Given the description of an element on the screen output the (x, y) to click on. 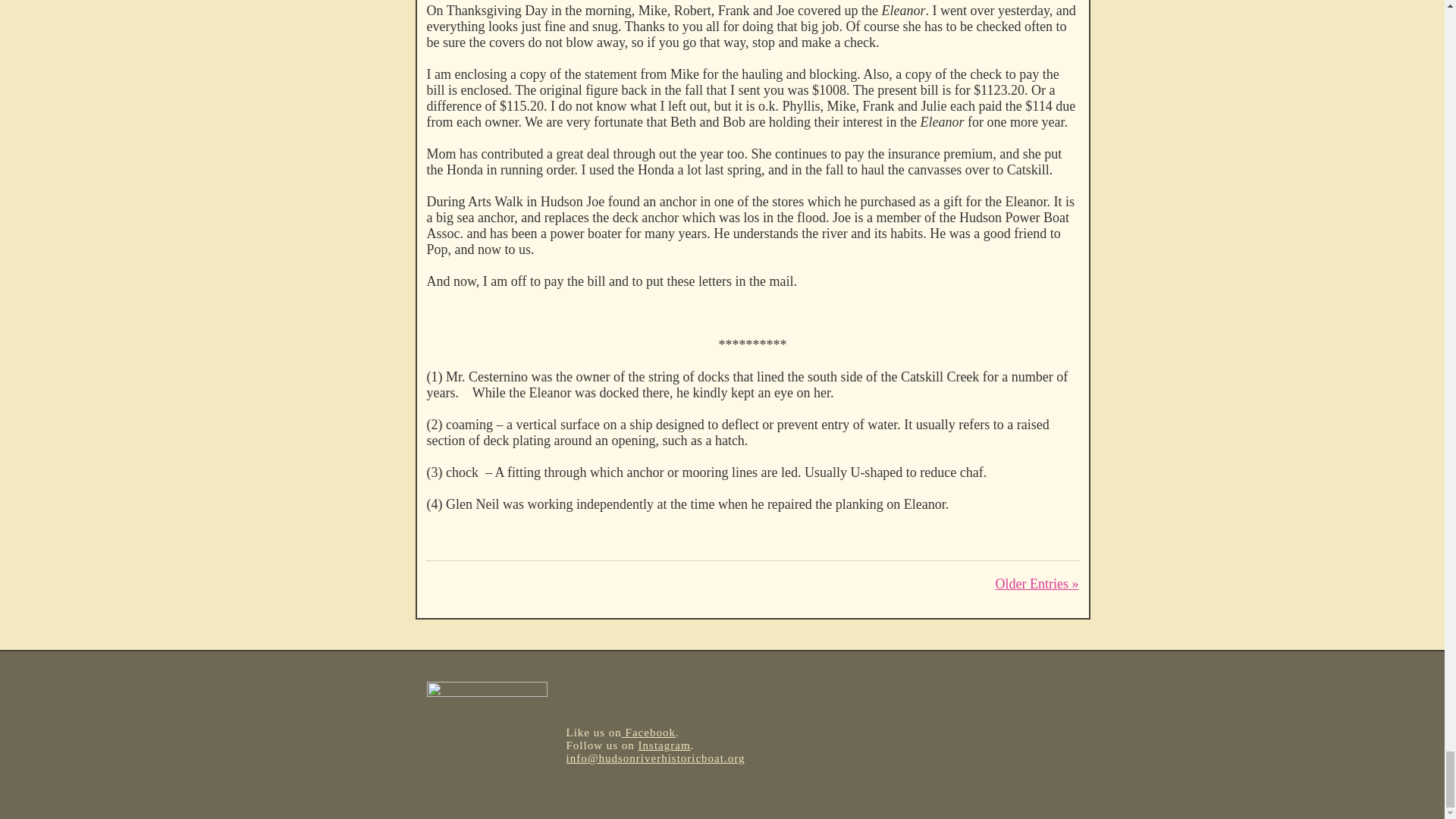
 Facebook (648, 732)
Instagram (664, 745)
